Given the description of an element on the screen output the (x, y) to click on. 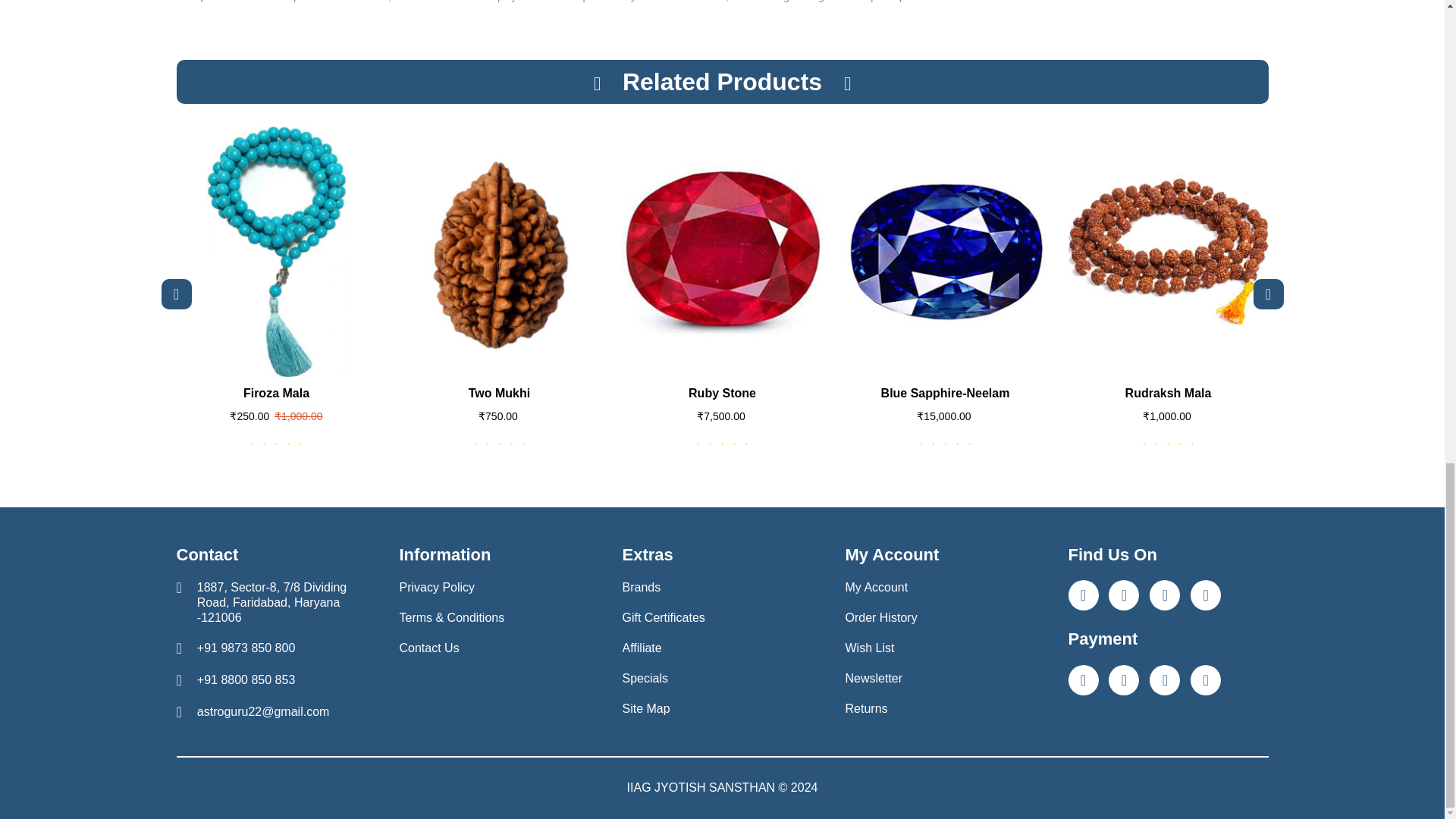
Firoza Mala (275, 251)
